Given the description of an element on the screen output the (x, y) to click on. 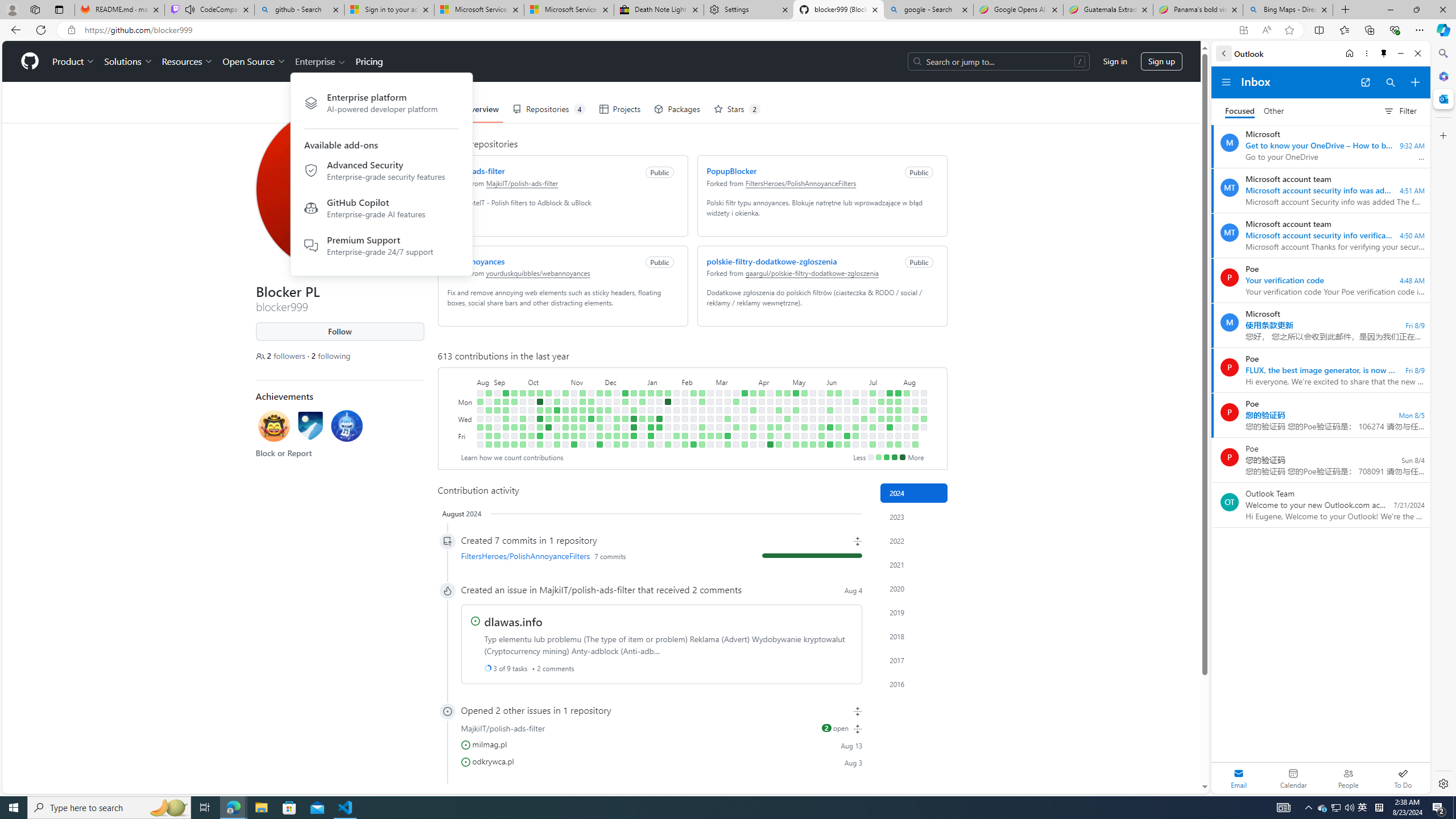
No contributions on June 17th. (846, 401)
Opened 2 other issues in 1 repository (661, 709)
FiltersHeroes/PolishAnnoyanceFilters 7 commits (661, 555)
No contributions on February 28th. (710, 418)
2 contributions on June 9th. (837, 392)
13 contributions on January 17th. (658, 418)
No contributions on September 22nd. (513, 435)
No contributions on April 9th. (761, 410)
Follow (338, 331)
No contributions on June 3rd. (829, 401)
No contributions on March 29th. (744, 435)
No contributions on August 8th. (906, 427)
No contributions on August 11th. (914, 392)
No contributions on August 10th. (906, 444)
